Given the description of an element on the screen output the (x, y) to click on. 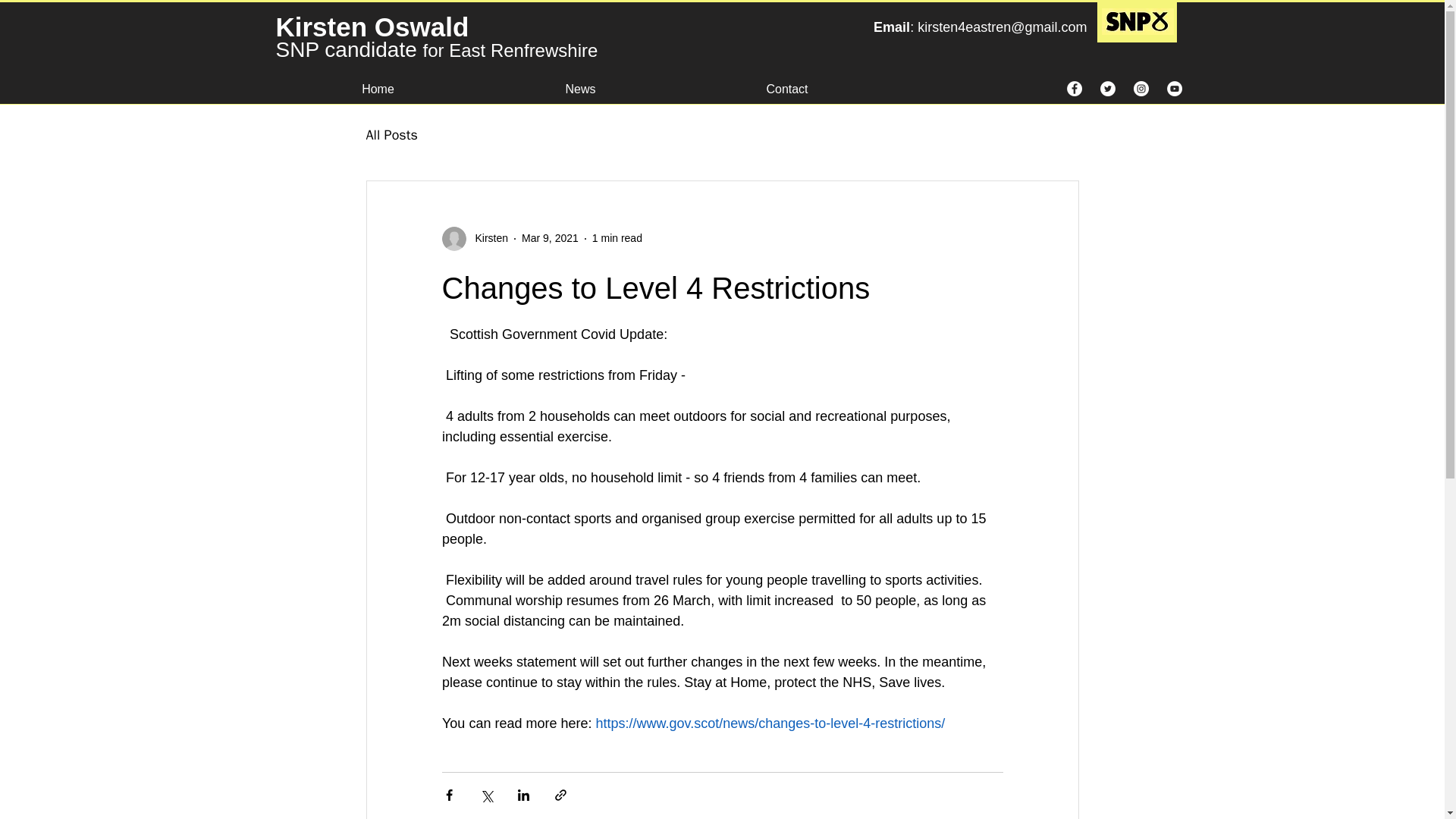
Mar 9, 2021 (549, 237)
1 min read (617, 237)
News (580, 81)
Contact (787, 81)
Kirsten (486, 238)
Home (378, 81)
All Posts (390, 135)
